Given the description of an element on the screen output the (x, y) to click on. 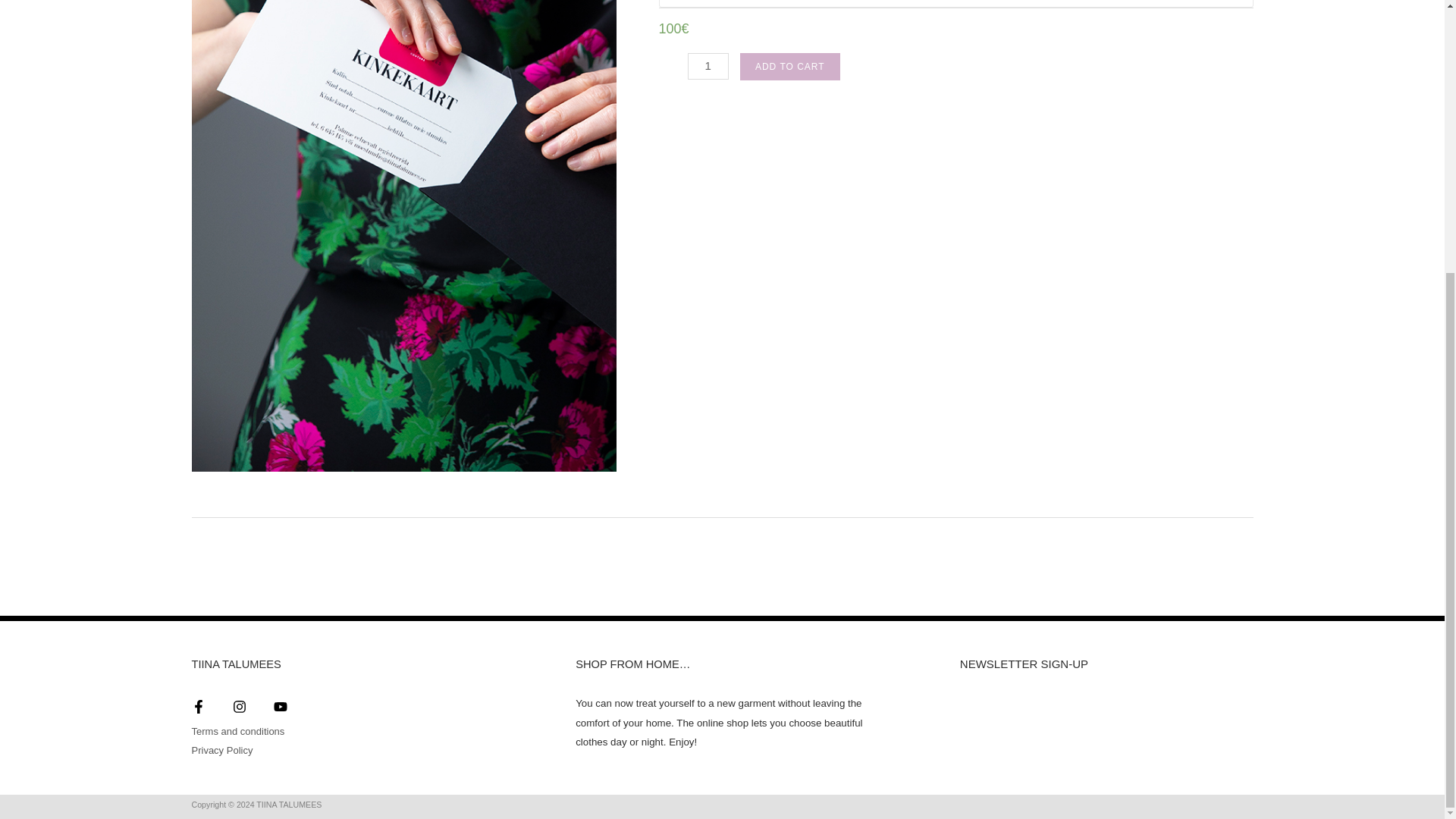
1 (707, 66)
